Given the description of an element on the screen output the (x, y) to click on. 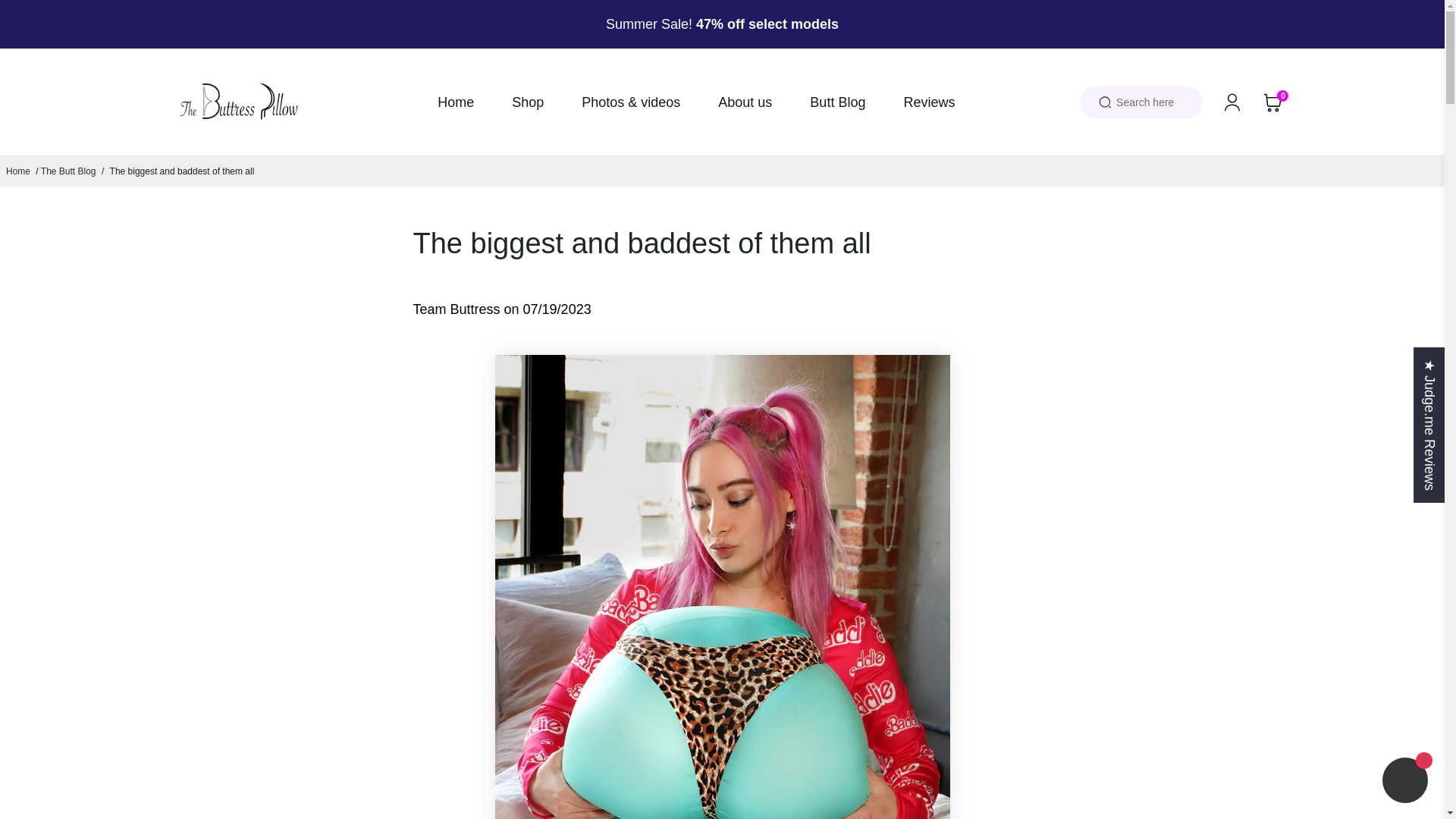
The Butt Blog (68, 171)
Shopify online store chat (1404, 781)
Reviews (928, 101)
Home (17, 171)
About us (744, 101)
Home (456, 101)
Butt Blog (836, 101)
Shop (527, 101)
Home (17, 171)
